Given the description of an element on the screen output the (x, y) to click on. 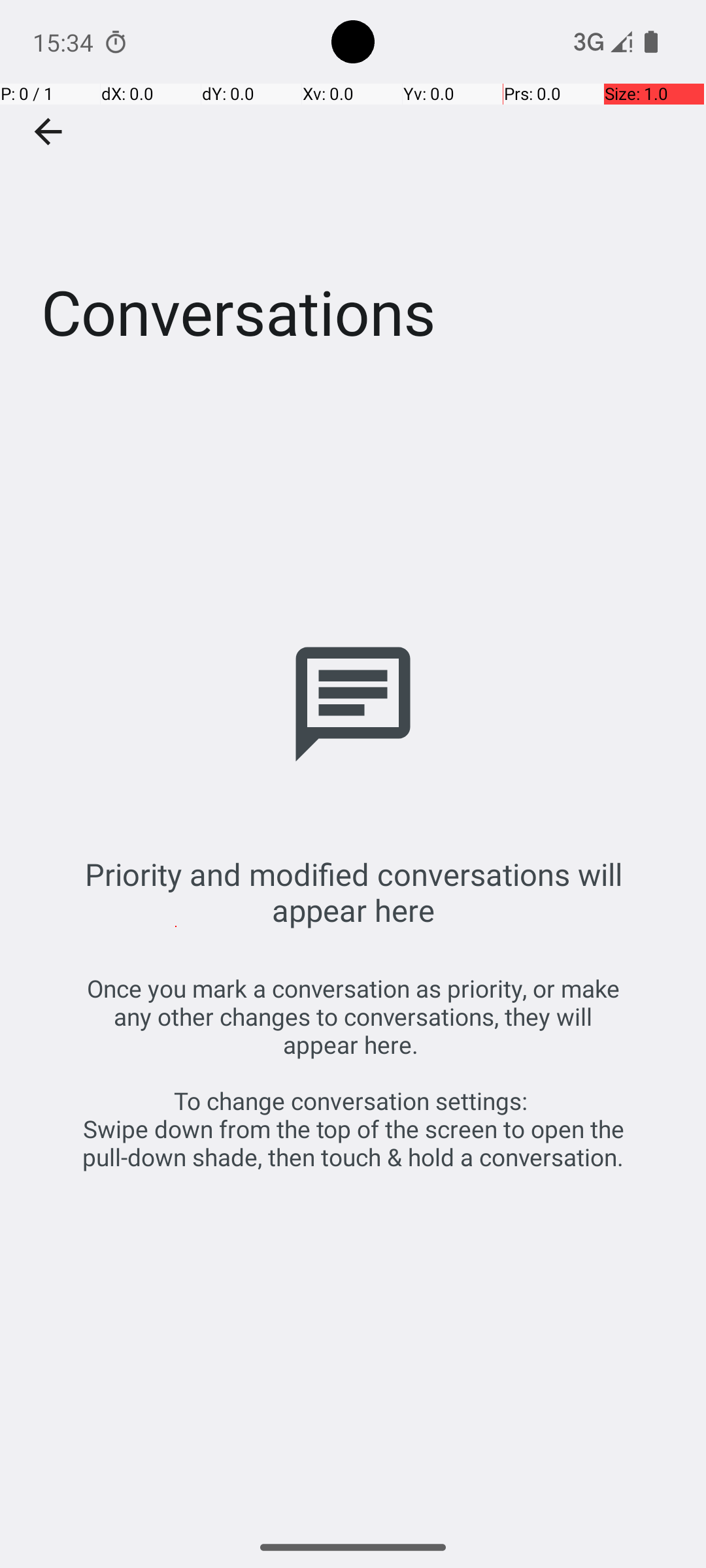
Priority and modified conversations will appear here Element type: android.widget.TextView (352, 891)
Once you mark a conversation as priority, or make any other changes to conversations, they will appear here. 

To change conversation settings: 
Swipe down from the top of the screen to open the pull-down shade, then touch & hold a conversation. Element type: android.widget.TextView (352, 1072)
